Given the description of an element on the screen output the (x, y) to click on. 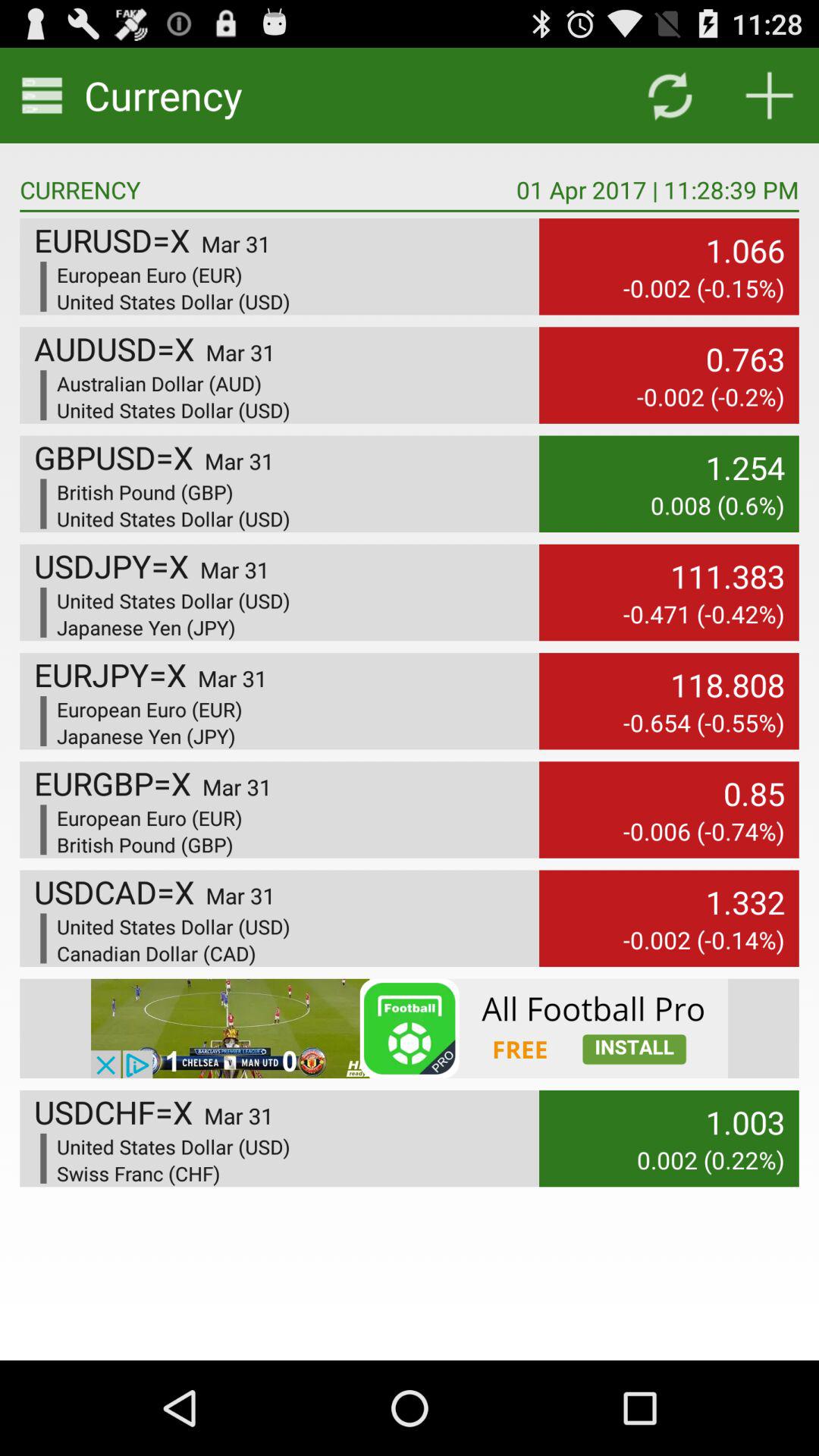
click on the icon at the top left of the page (42, 95)
